Given the description of an element on the screen output the (x, y) to click on. 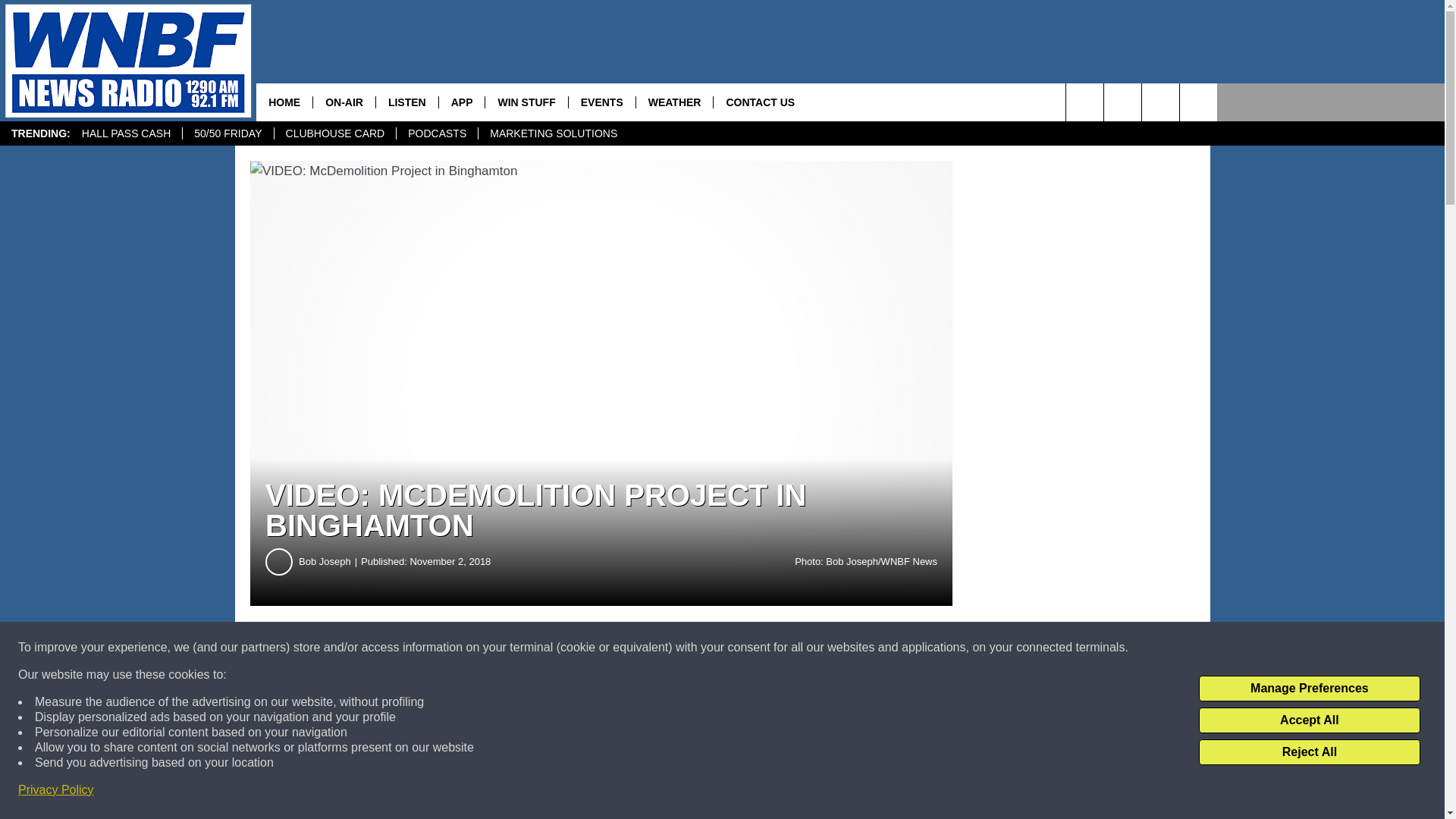
Share on Twitter (741, 647)
PODCASTS (436, 133)
LISTEN (406, 102)
Manage Preferences (1309, 688)
MARKETING SOLUTIONS (552, 133)
WIN STUFF (525, 102)
Privacy Policy (55, 789)
HOME (284, 102)
Share on Facebook (460, 647)
Reject All (1309, 751)
ON-AIR (344, 102)
WEATHER (673, 102)
APP (461, 102)
HALL PASS CASH (126, 133)
Accept All (1309, 720)
